Given the description of an element on the screen output the (x, y) to click on. 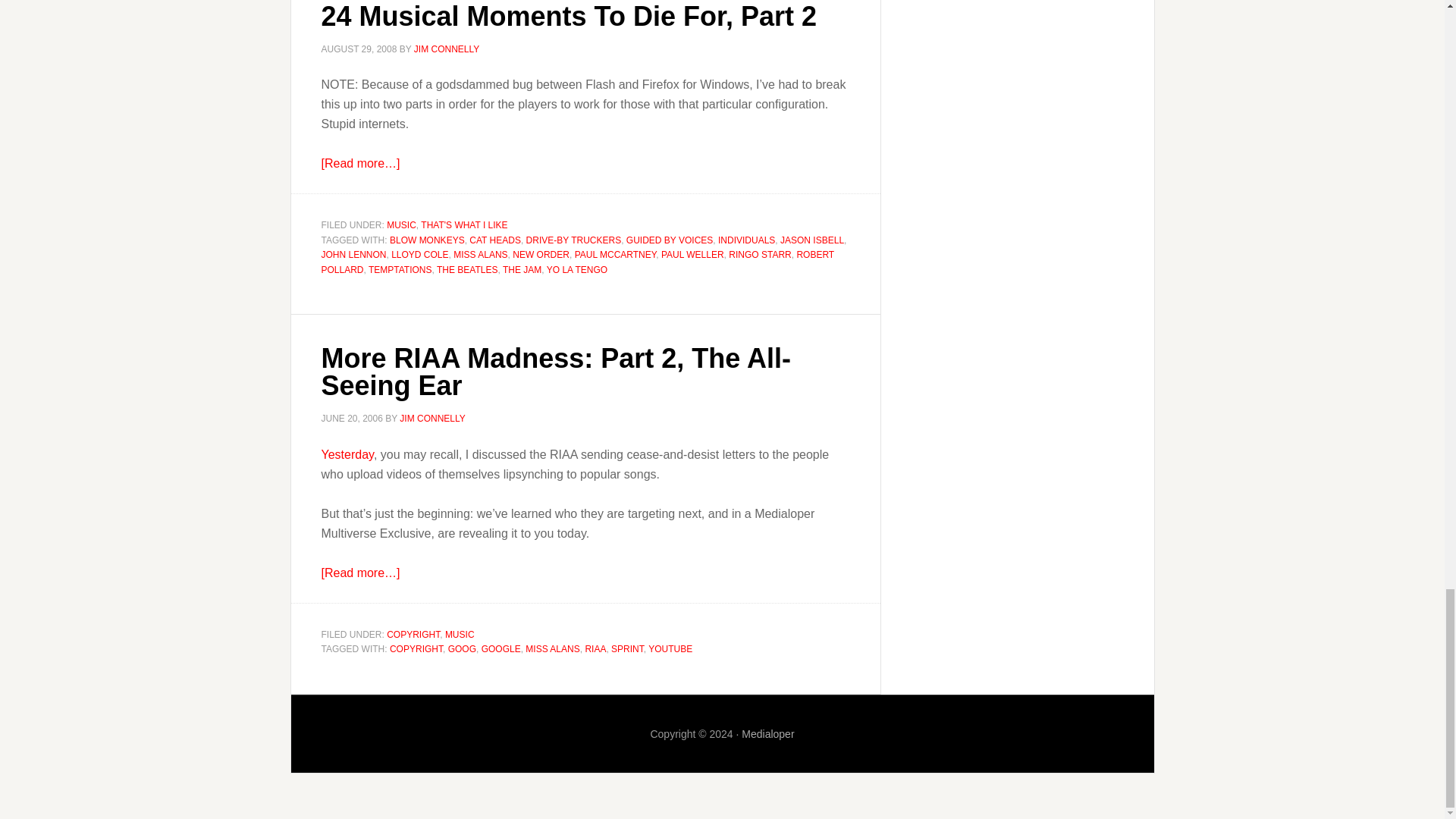
THAT'S WHAT I LIKE (463, 225)
BLOW MONKEYS (427, 240)
MUSIC (401, 225)
CAT HEADS (494, 240)
JIM CONNELLY (446, 49)
24 Musical Moments To Die For, Part 2 (568, 15)
